Given the description of an element on the screen output the (x, y) to click on. 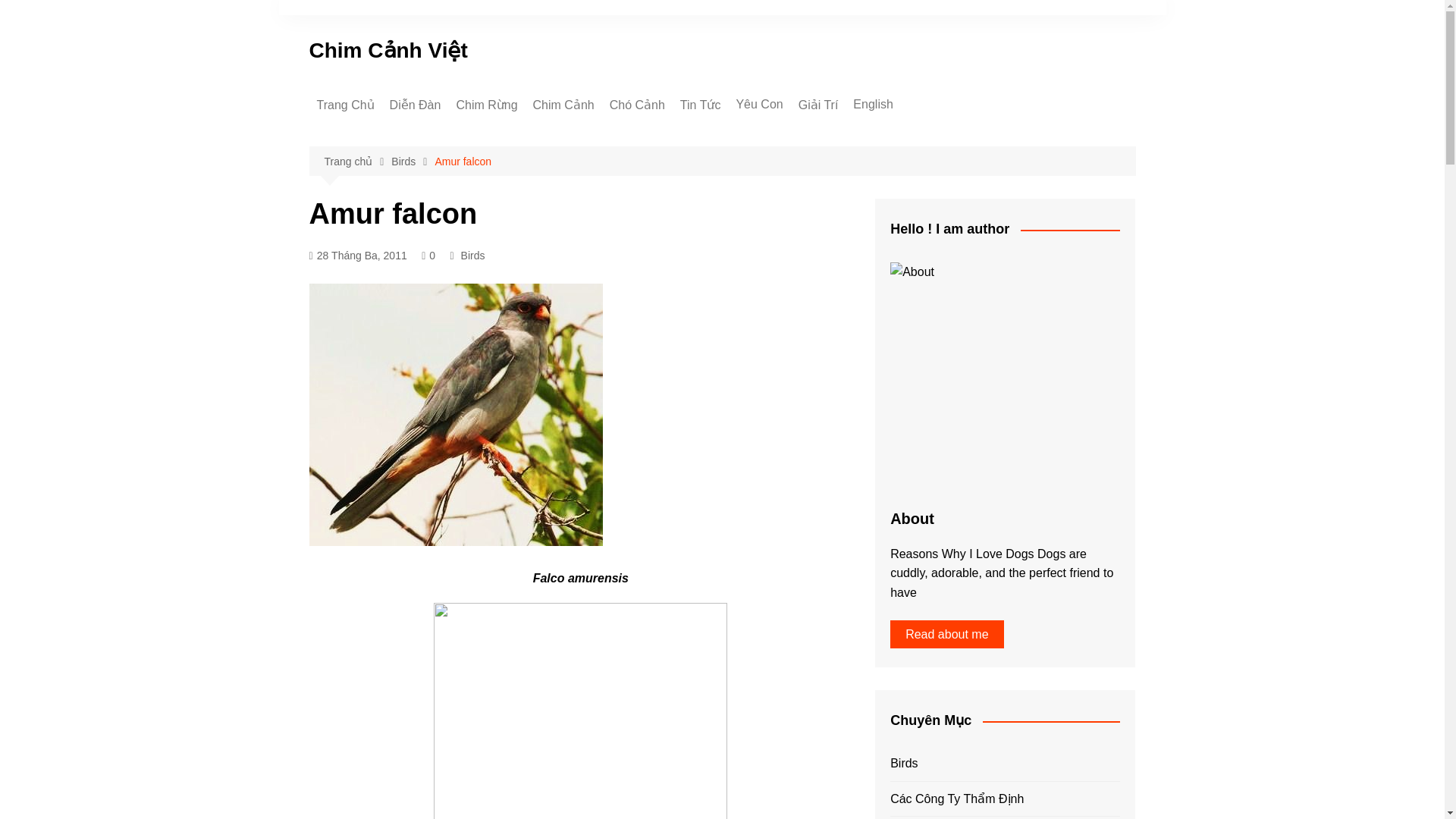
English (872, 104)
Finch (609, 135)
Love Dog (928, 135)
Birds (412, 161)
Birds (928, 160)
Amur falcon (462, 161)
Birds (472, 255)
